Given the description of an element on the screen output the (x, y) to click on. 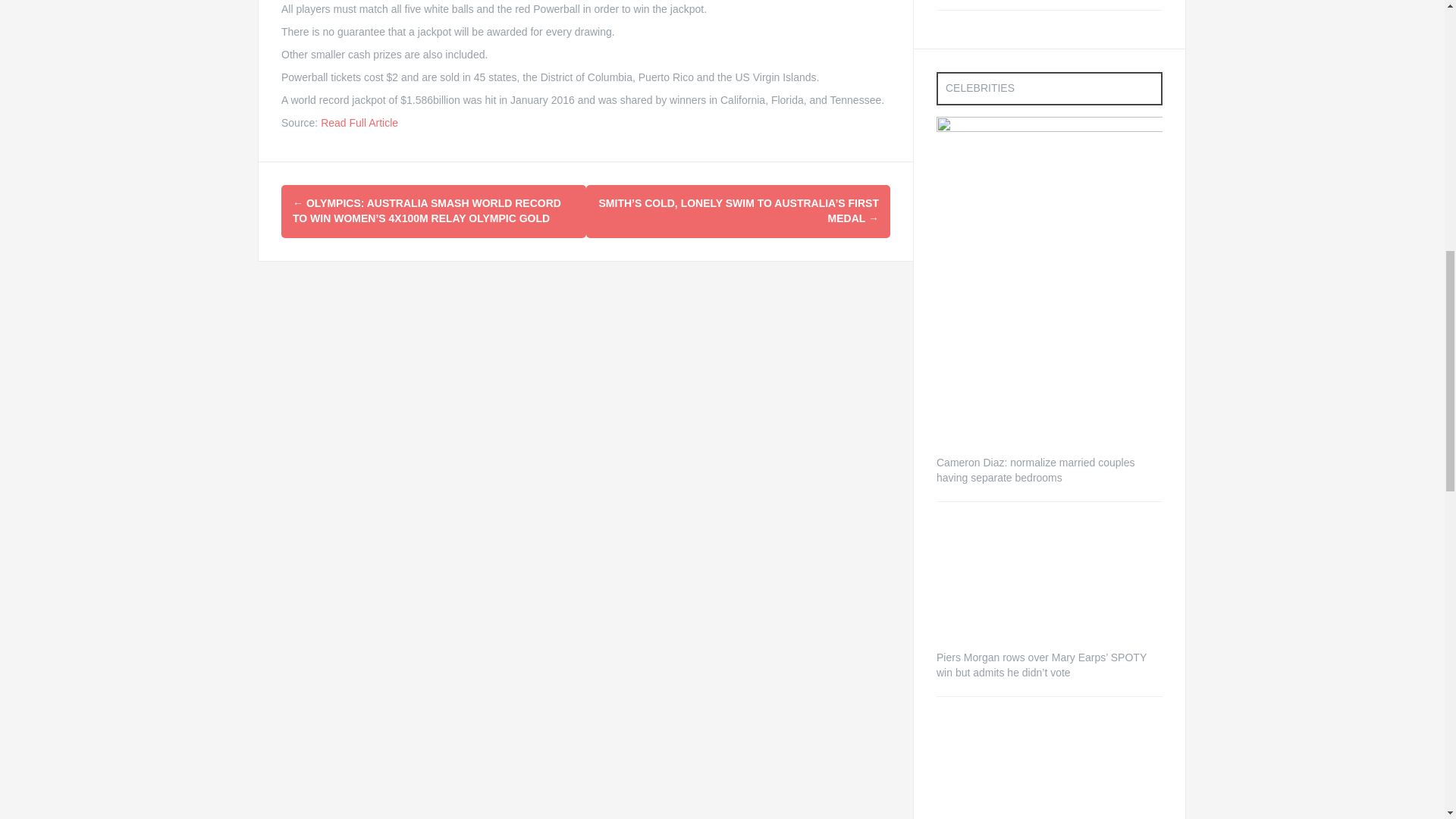
Read Full Article (358, 122)
